Given the description of an element on the screen output the (x, y) to click on. 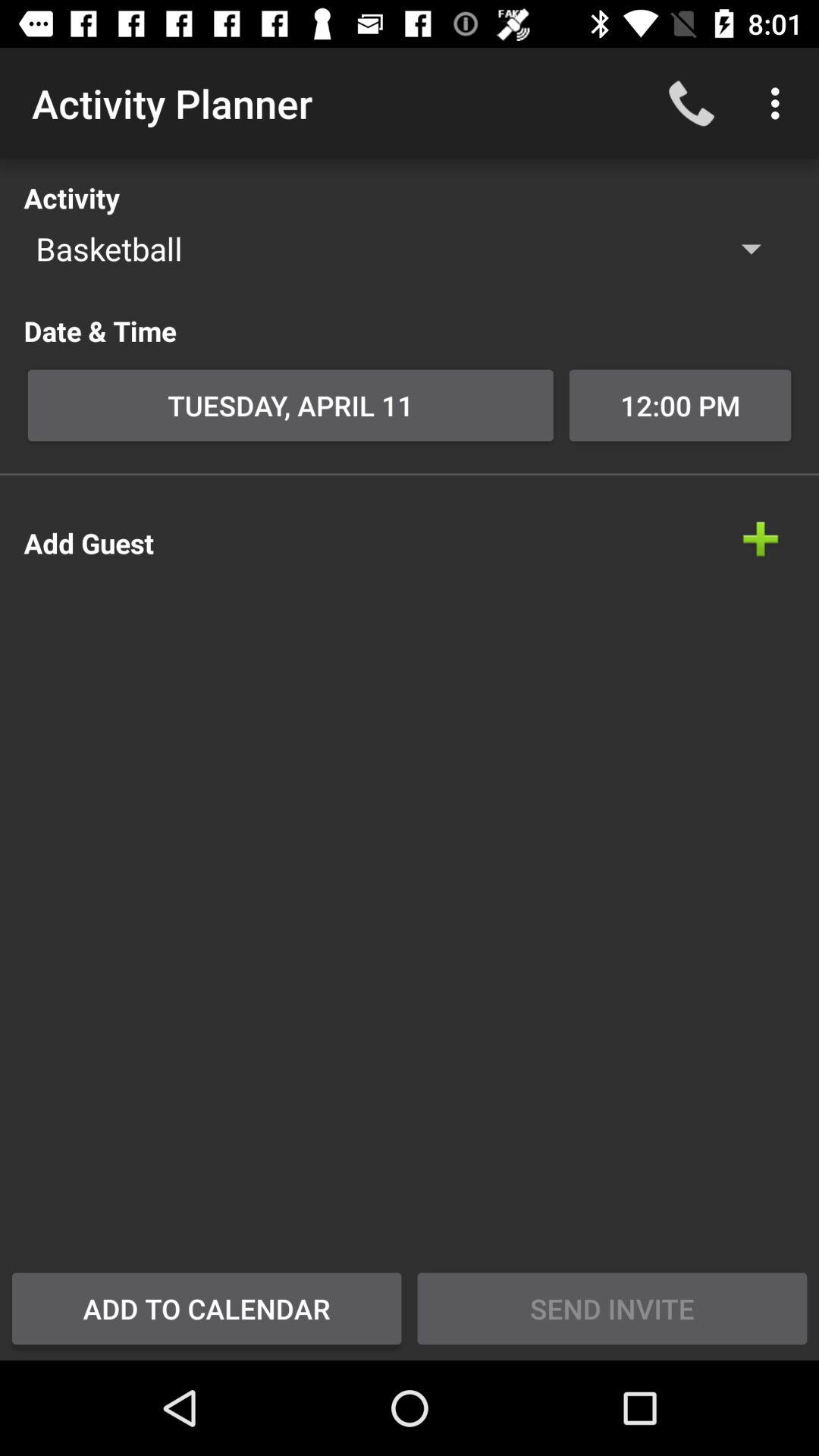
click the icon to the left of the 12:00 pm (290, 405)
